Given the description of an element on the screen output the (x, y) to click on. 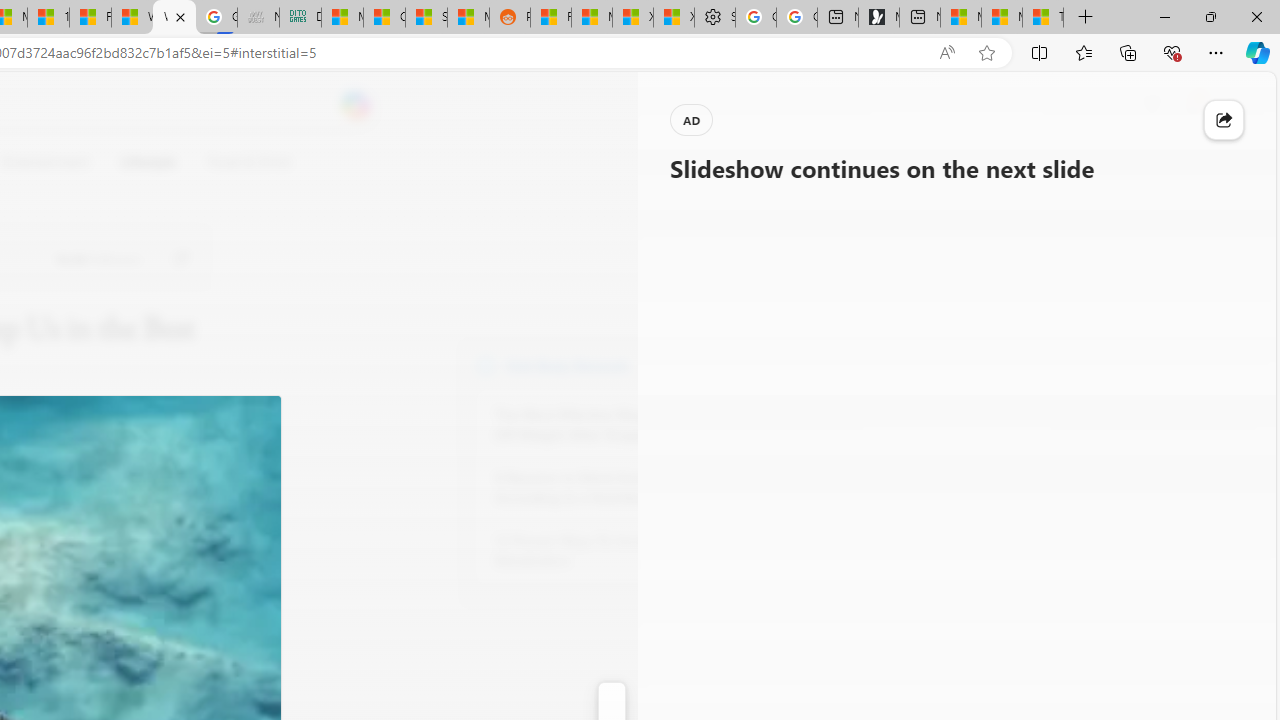
Go to publisher's site (180, 258)
12 Proven Ways To Increase Your Metabolism (603, 550)
